Given the description of an element on the screen output the (x, y) to click on. 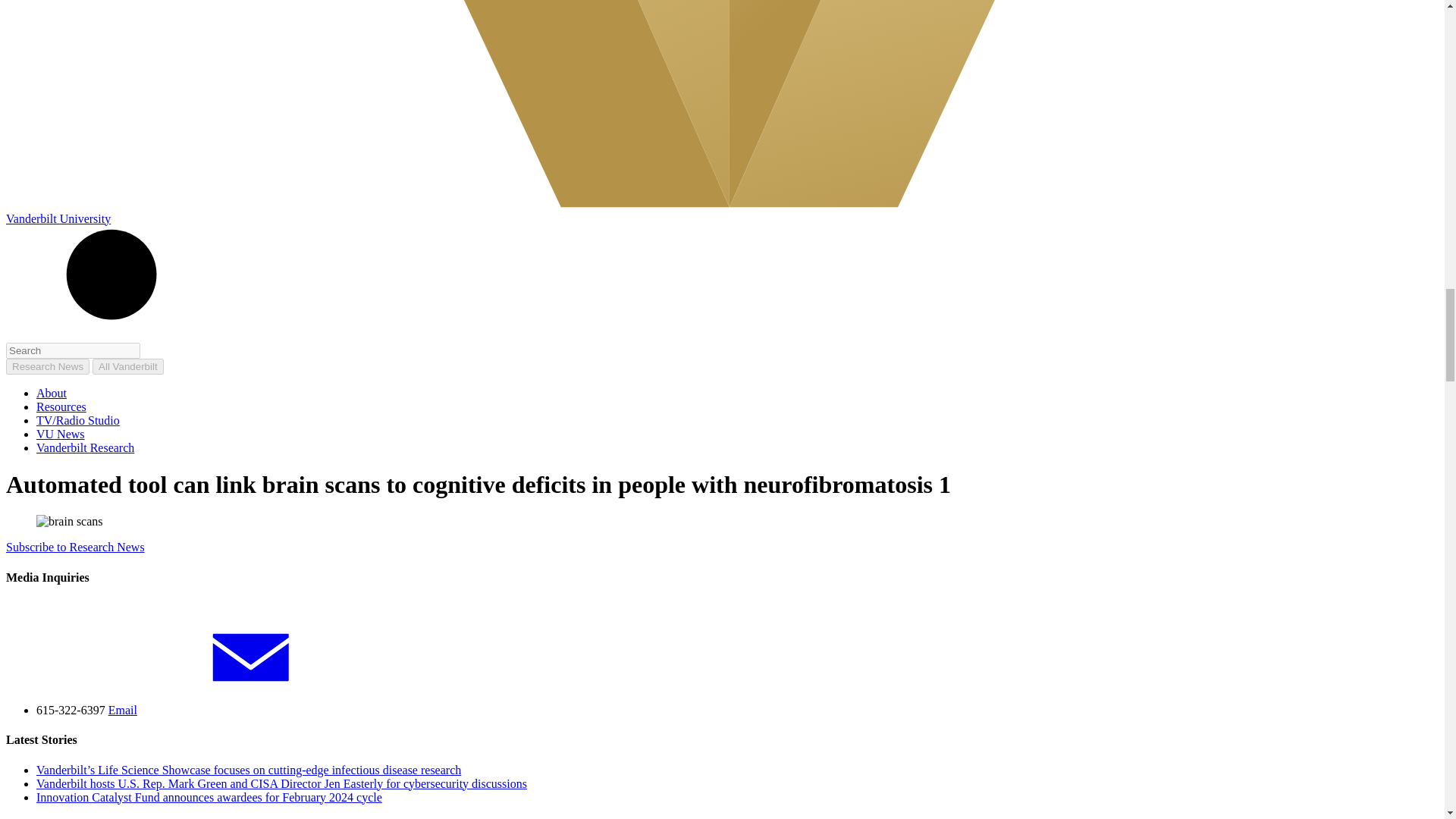
Subscribe to Research News (74, 546)
Vanderbilt Research (84, 447)
VU News (60, 433)
Resources (60, 406)
Email (236, 709)
All Vanderbilt (128, 366)
Research News (46, 366)
About (51, 392)
